Given the description of an element on the screen output the (x, y) to click on. 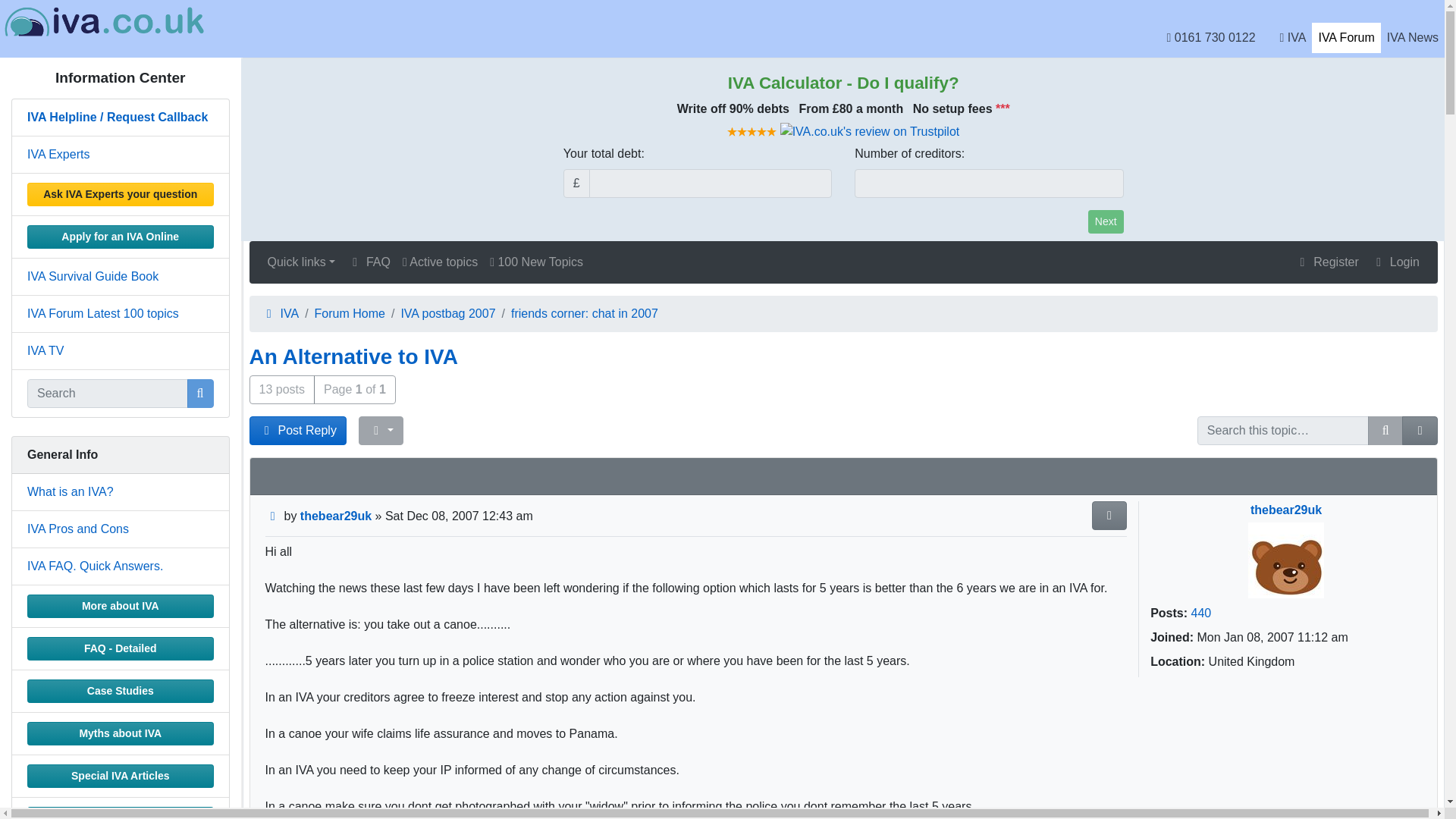
IVA News (1412, 37)
Next Step (1105, 221)
Active topics (439, 262)
IVA Forum (1345, 37)
100 New Topics (536, 262)
Post (272, 515)
Frequently Asked Questions (368, 262)
Next (1105, 221)
Post Reply (297, 430)
IVA Forum (1345, 37)
Post a reply (297, 430)
Advanced search (1420, 430)
IVA Caculator - Do I Qualify? (785, 82)
An Alternative to IVA (352, 356)
IVA.co.uk Home (1293, 37)
